Given the description of an element on the screen output the (x, y) to click on. 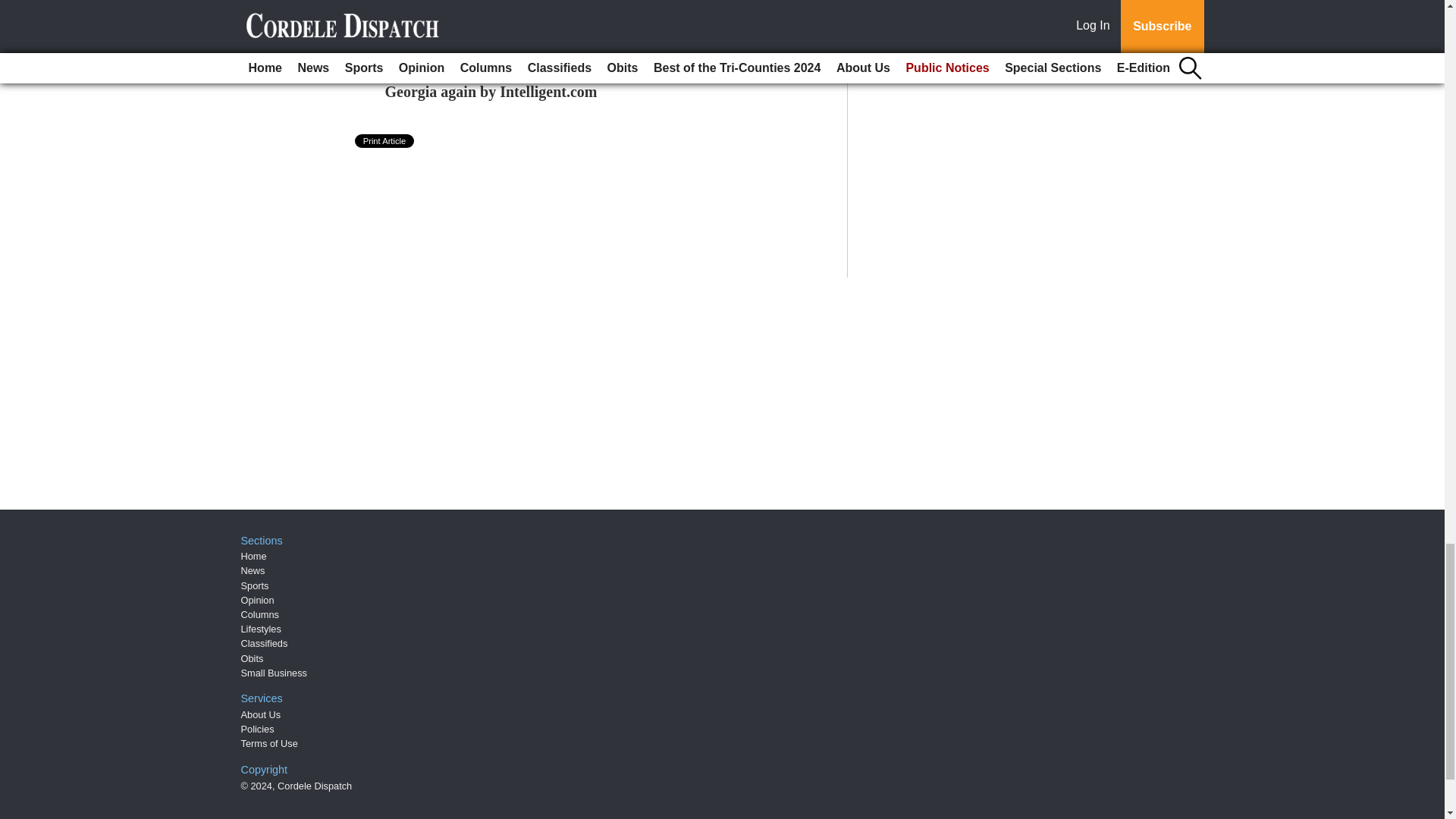
Columns (260, 614)
Print Article (384, 141)
Opinion (258, 600)
Sports (255, 585)
Small Business (274, 672)
News (252, 570)
Lifestyles (261, 628)
Classifieds (264, 643)
Home (253, 555)
Obits (252, 658)
